Given the description of an element on the screen output the (x, y) to click on. 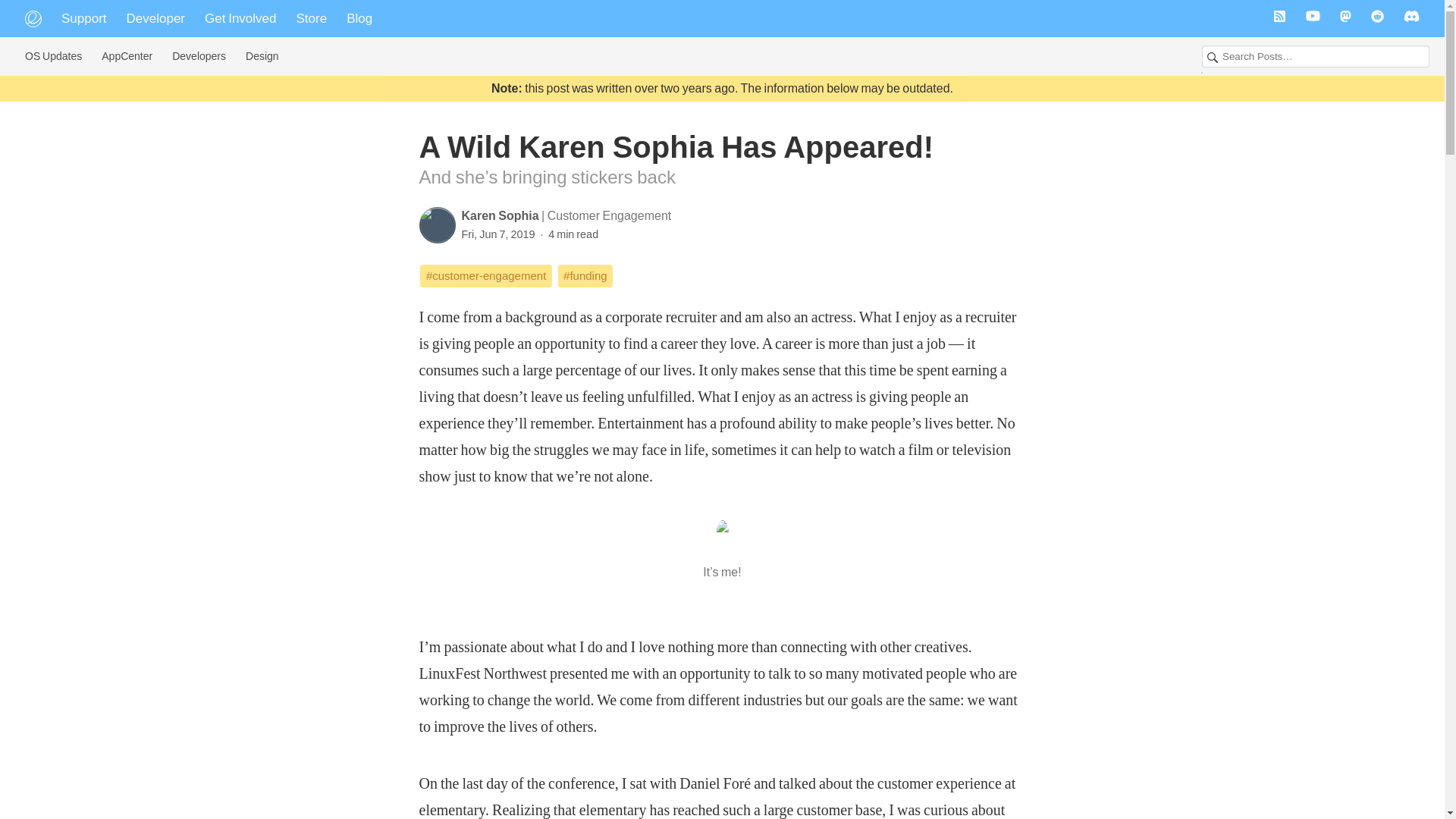
Get Involved (240, 18)
Design (261, 56)
Blog (358, 18)
Discord (1411, 18)
Developers (198, 56)
Karen Sophia (501, 215)
OS Updates (52, 56)
Store (311, 18)
Support (83, 18)
Estimated read time (567, 234)
